Given the description of an element on the screen output the (x, y) to click on. 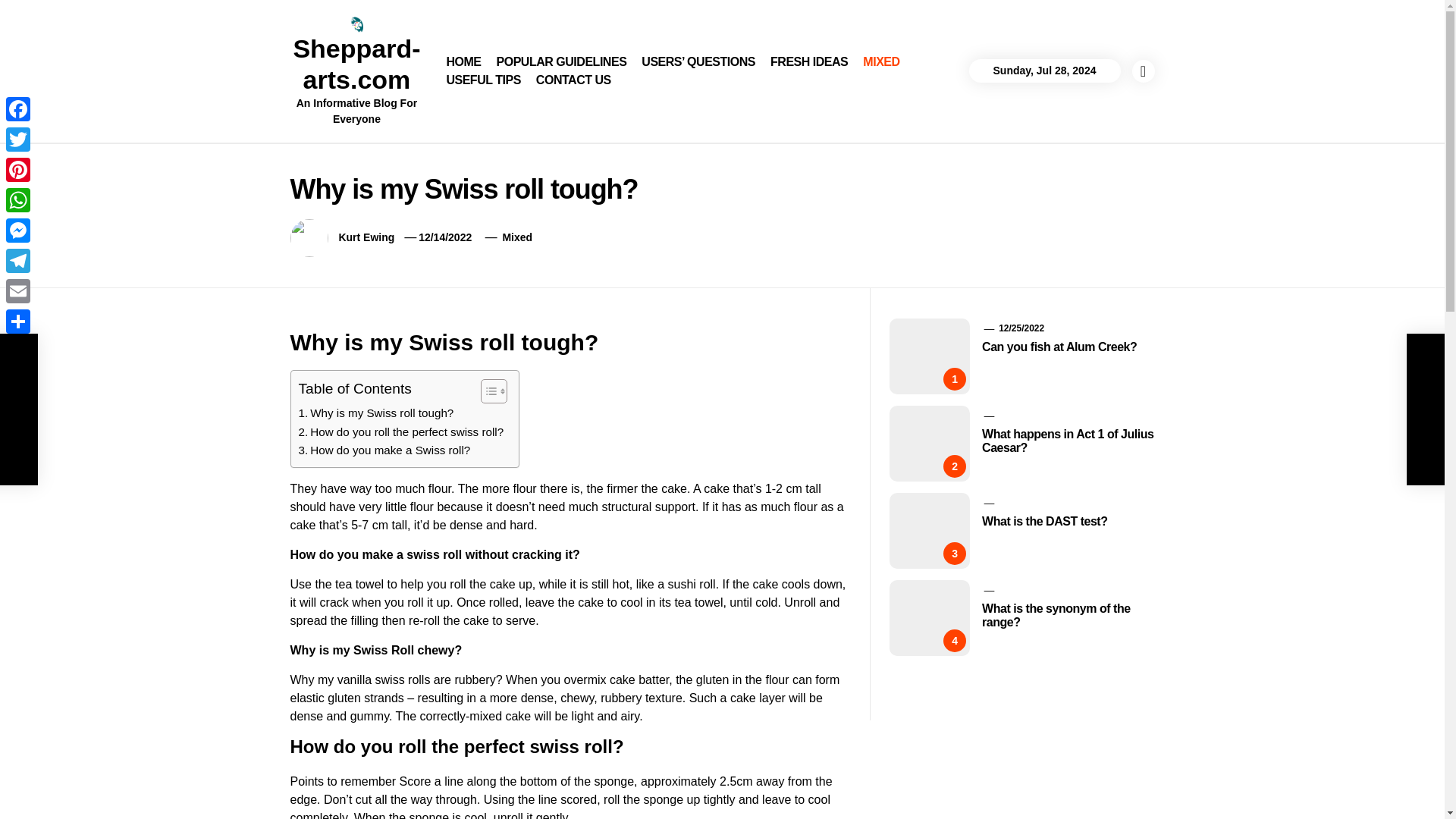
Sheppard-arts.com (356, 64)
How do you roll the perfect swiss roll? (400, 432)
CONTACT US (573, 80)
How do you make a Swiss roll? (384, 450)
Email (17, 291)
WhatsApp (17, 200)
HOME (462, 62)
Kurt Ewing (365, 236)
How do you make a Swiss roll? (384, 450)
USEFUL TIPS (482, 80)
Why is my Swiss roll tough? (376, 413)
Facebook (17, 109)
Pinterest (17, 169)
MIXED (881, 62)
Telegram (17, 260)
